Given the description of an element on the screen output the (x, y) to click on. 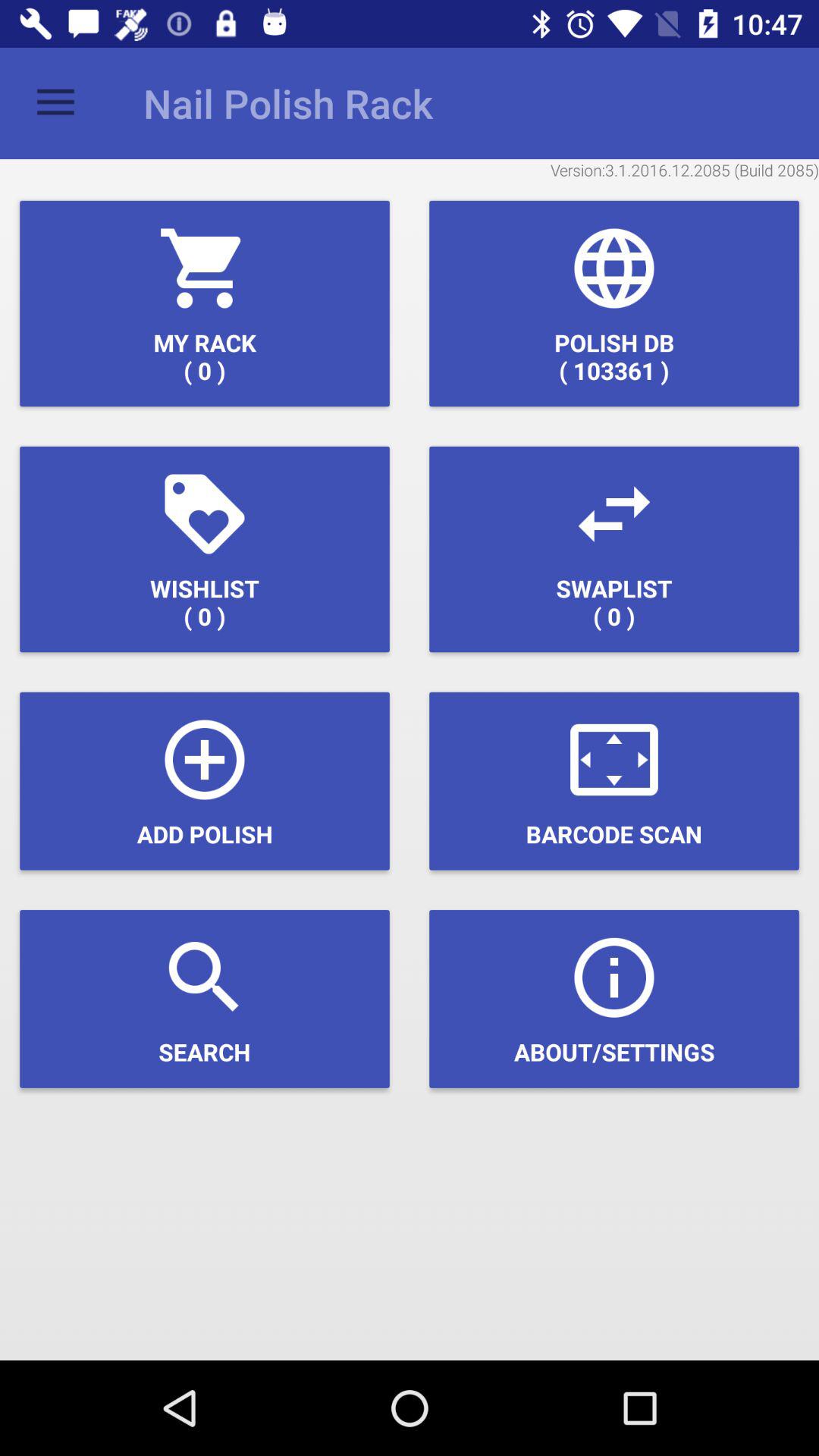
launch the item to the right of the my rack
( 0 ) (614, 303)
